Given the description of an element on the screen output the (x, y) to click on. 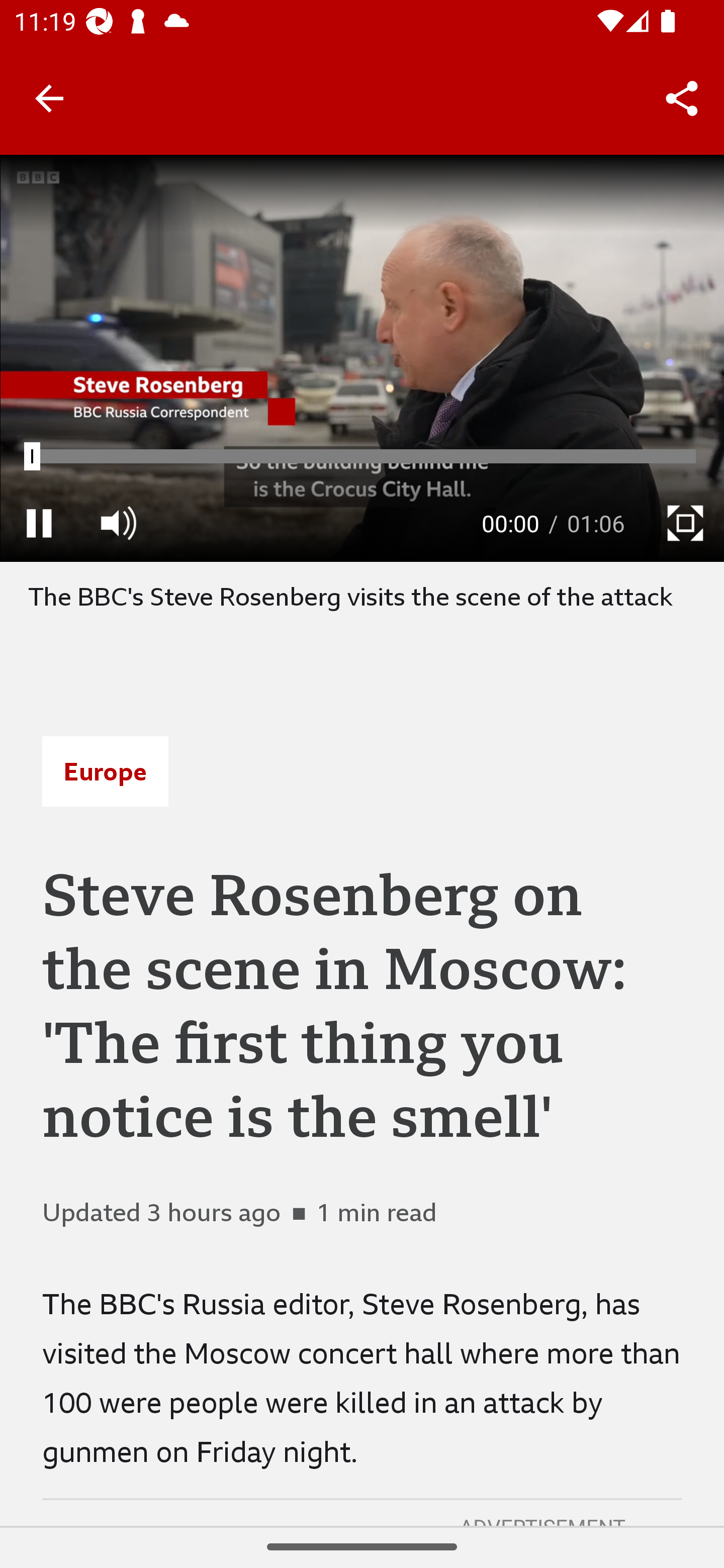
Back (49, 97)
Share (681, 98)
volume (118, 522)
enter fullscreen (685, 522)
Europe (104, 771)
